Given the description of an element on the screen output the (x, y) to click on. 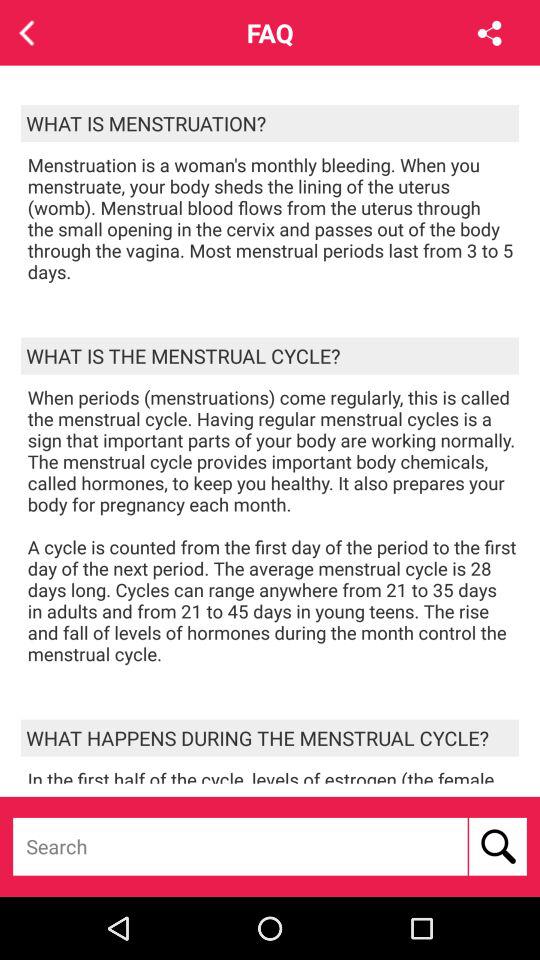
launch the in the first app (273, 775)
